Given the description of an element on the screen output the (x, y) to click on. 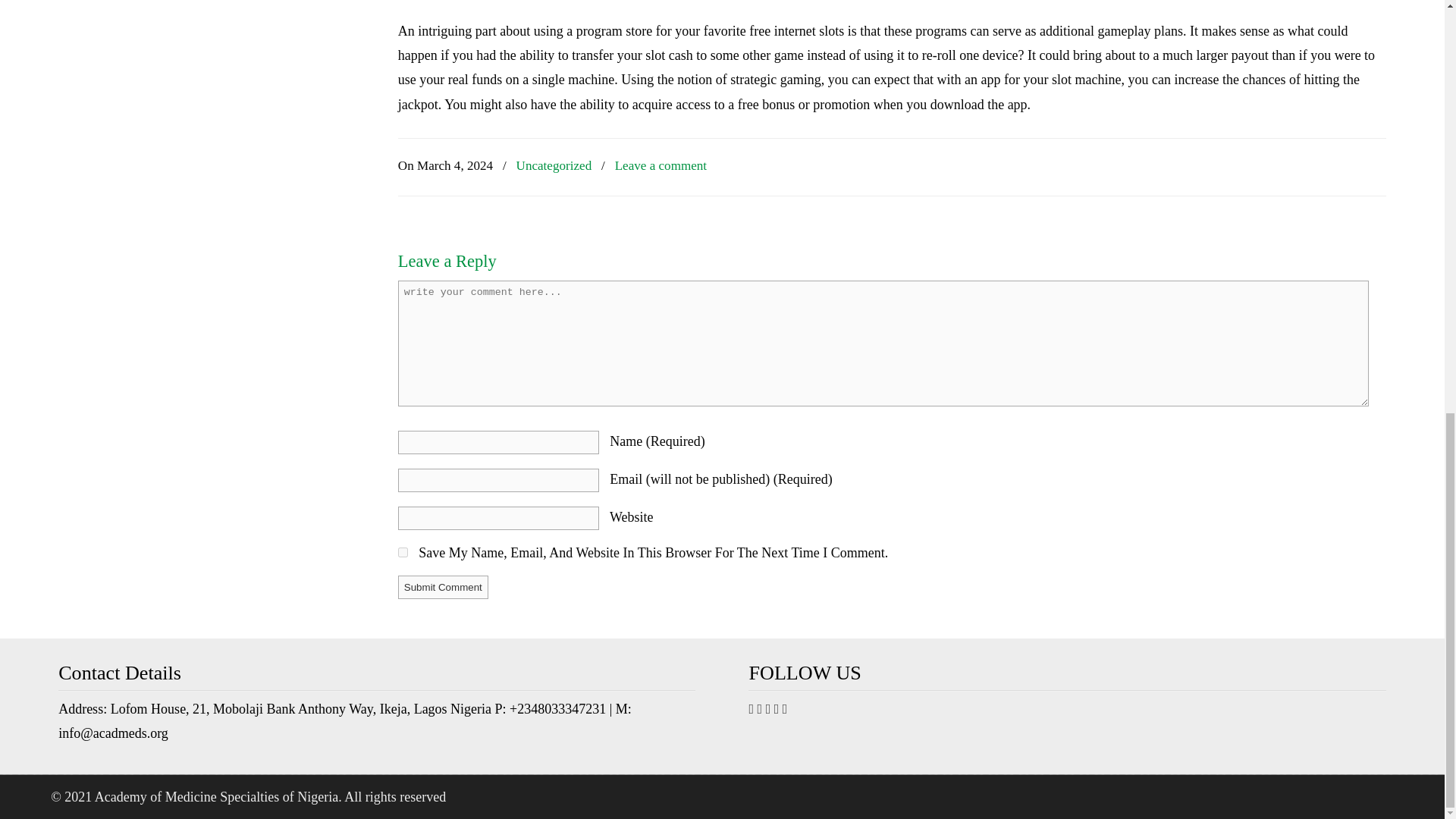
Leave a comment (660, 166)
Submit Comment (442, 586)
Submit Comment (442, 586)
yes (402, 552)
Uncategorized (554, 166)
